Given the description of an element on the screen output the (x, y) to click on. 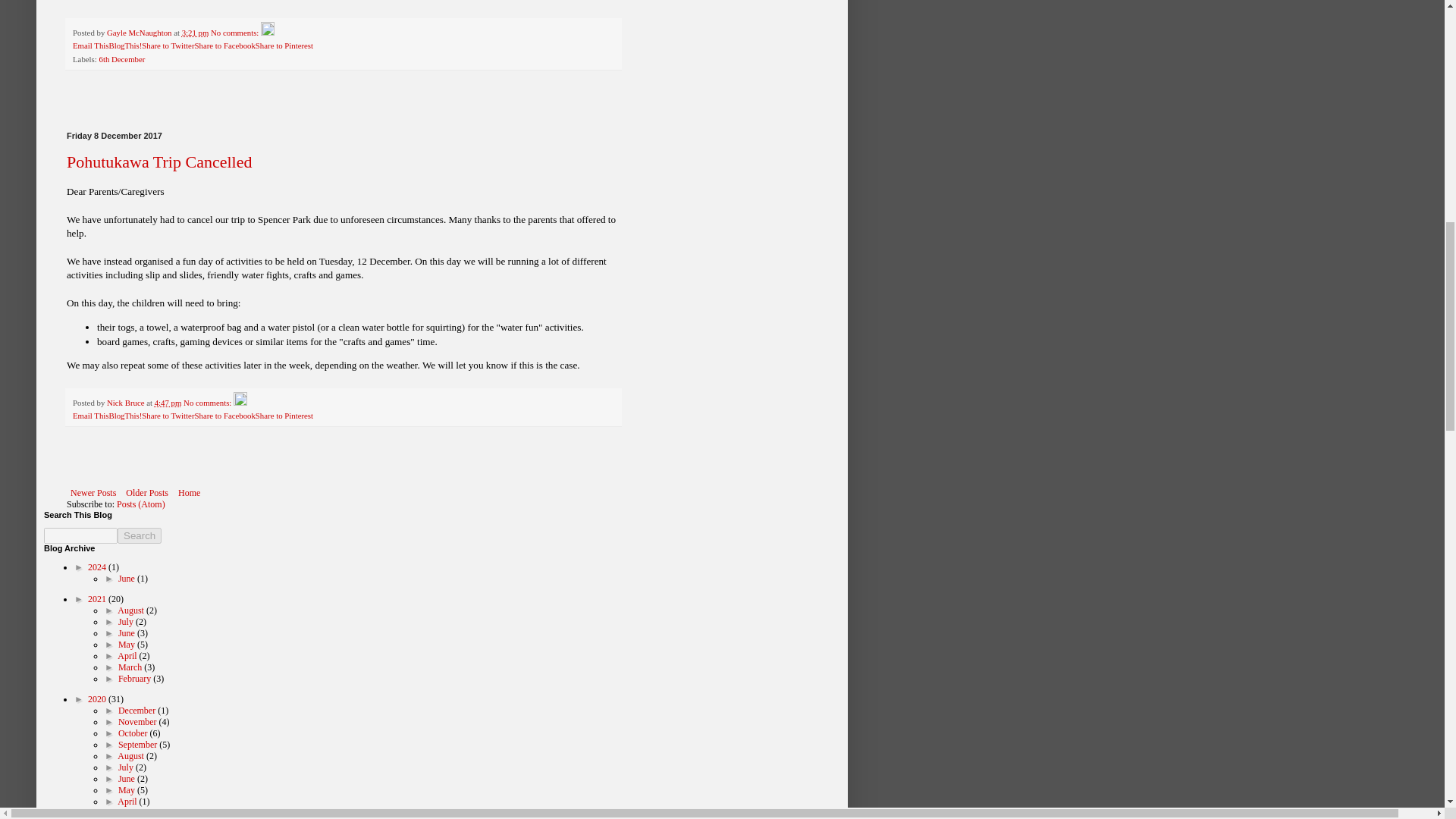
permanent link (195, 31)
Share to Twitter (167, 415)
Home (188, 493)
author profile (139, 31)
Share to Twitter (167, 415)
Share to Facebook (223, 415)
Email This (89, 415)
3:21 pm (195, 31)
Share to Facebook (223, 44)
BlogThis! (124, 415)
2024 (97, 566)
No comments: (235, 31)
Email This (89, 44)
Gayle McNaughton (139, 31)
Email This (89, 415)
